Given the description of an element on the screen output the (x, y) to click on. 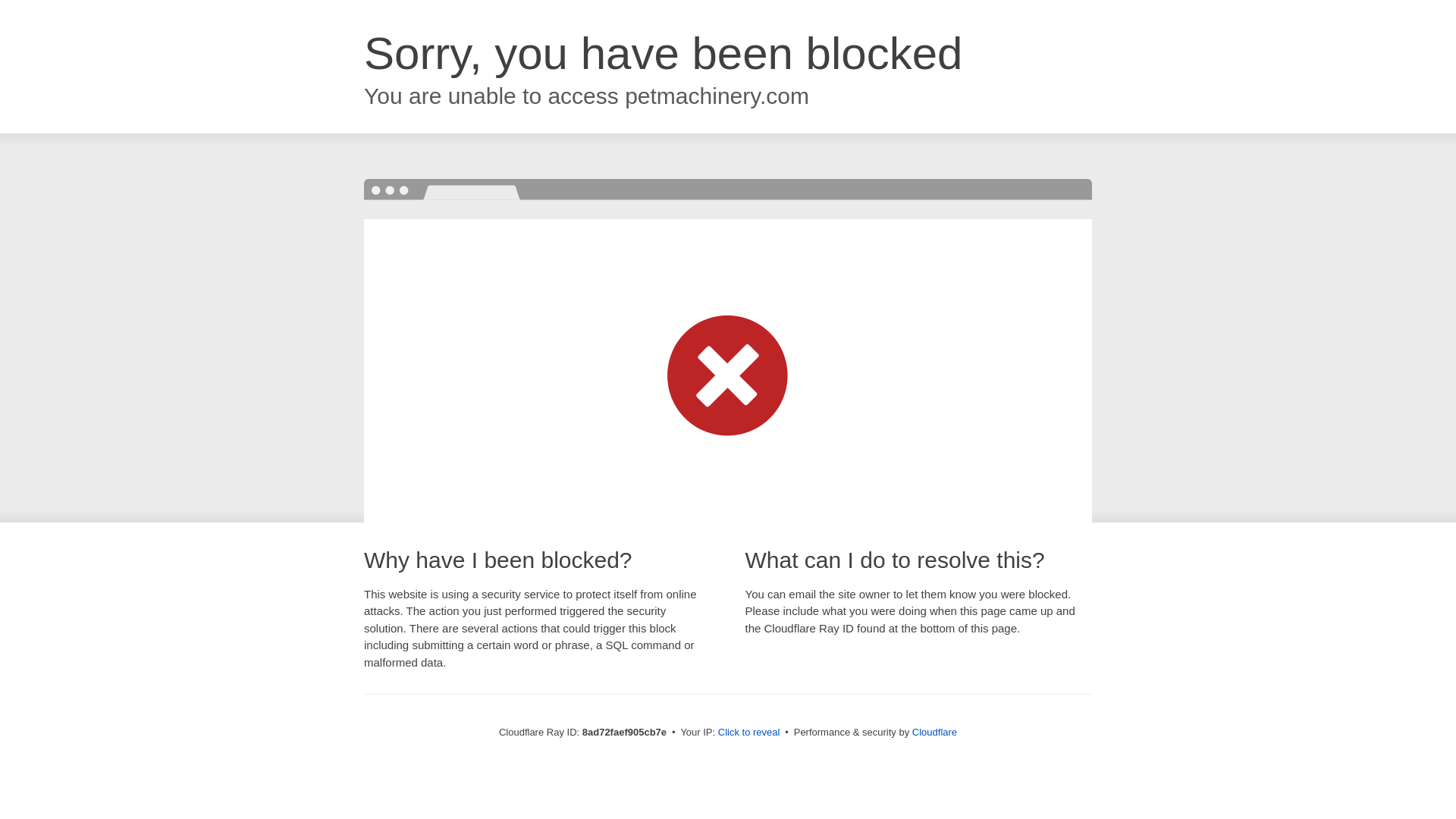
Click to reveal (748, 732)
Cloudflare (934, 731)
